Given the description of an element on the screen output the (x, y) to click on. 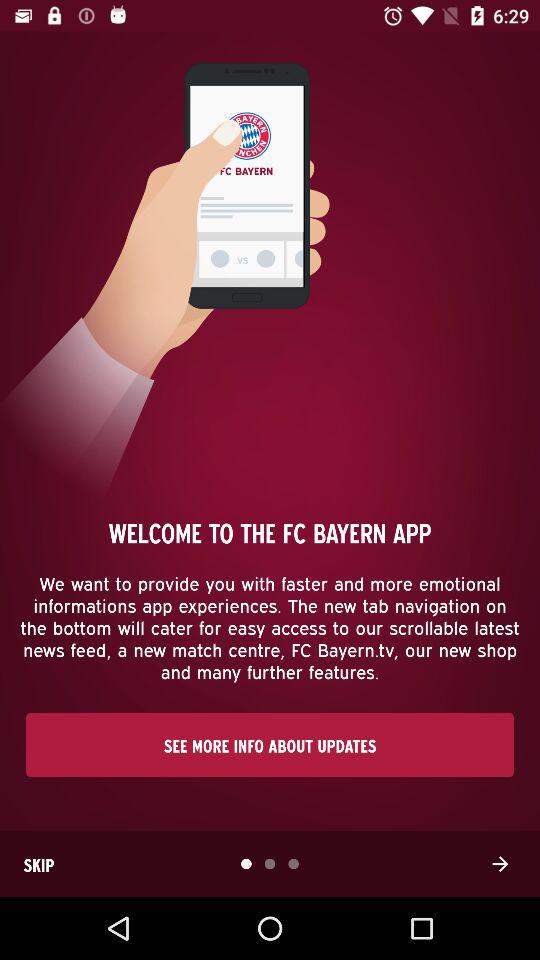
choose icon below the we want to icon (269, 744)
